Given the description of an element on the screen output the (x, y) to click on. 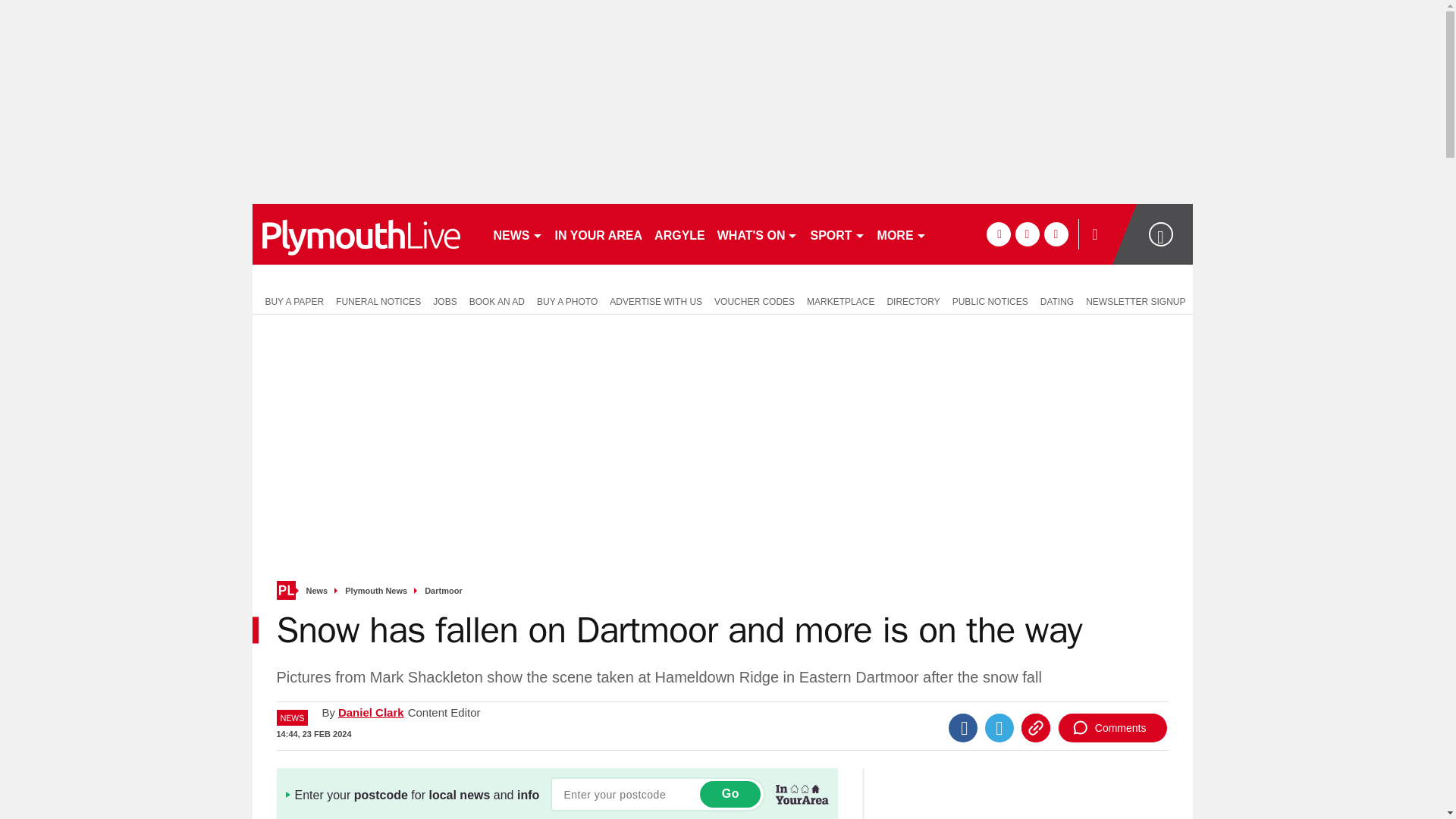
facebook (997, 233)
NEWS (517, 233)
instagram (1055, 233)
SPORT (836, 233)
Facebook (962, 727)
plymouthherald (365, 233)
Go (730, 794)
twitter (1026, 233)
ARGYLE (679, 233)
IN YOUR AREA (598, 233)
